Given the description of an element on the screen output the (x, y) to click on. 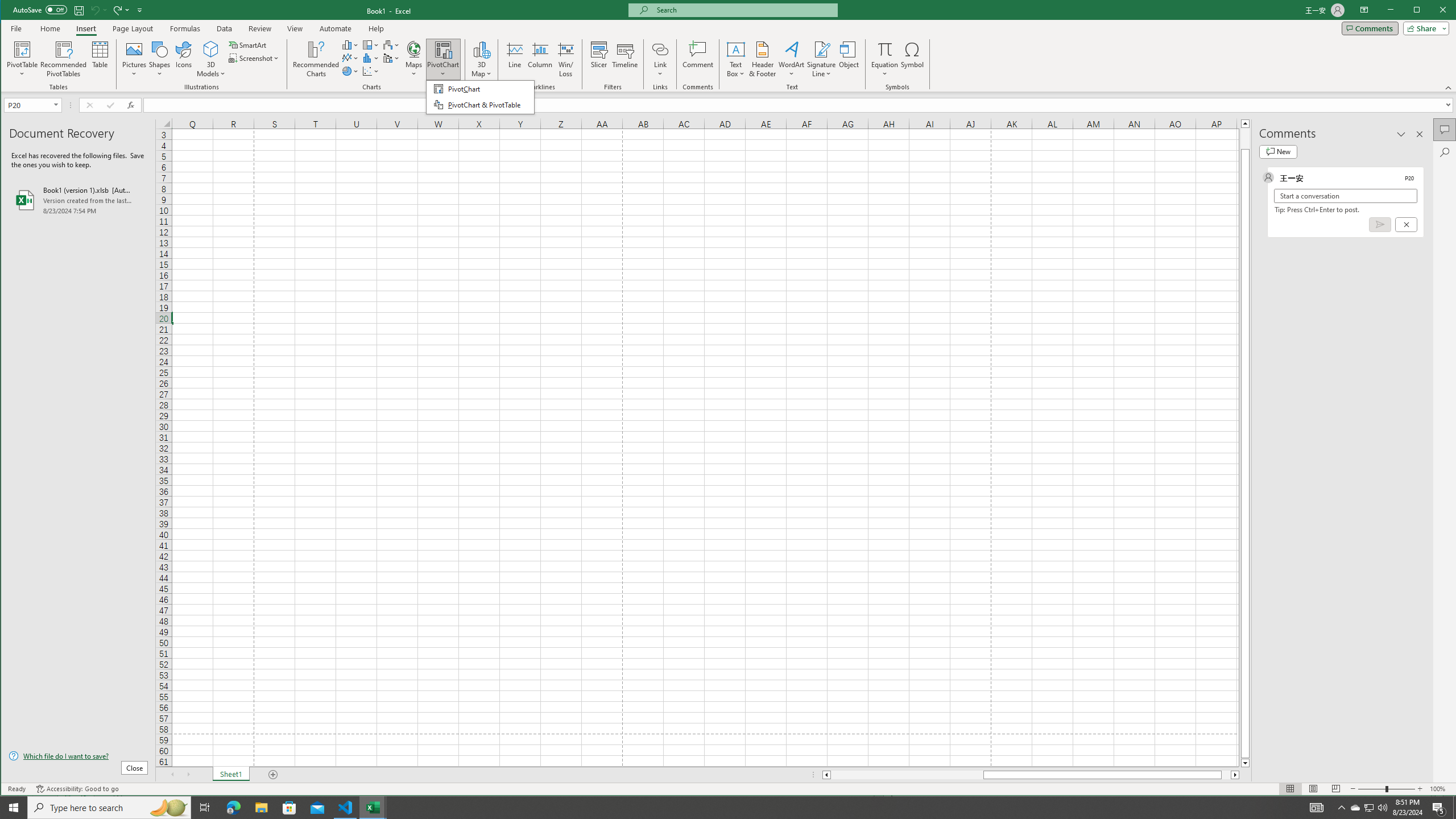
Insert Scatter (X, Y) or Bubble Chart (371, 70)
User Promoted Notification Area (1368, 807)
Signature Line (821, 59)
PivotChart (443, 59)
Excel - 2 running windows (373, 807)
Visual Studio Code - 1 running window (345, 807)
Header & Footer... (762, 59)
